Given the description of an element on the screen output the (x, y) to click on. 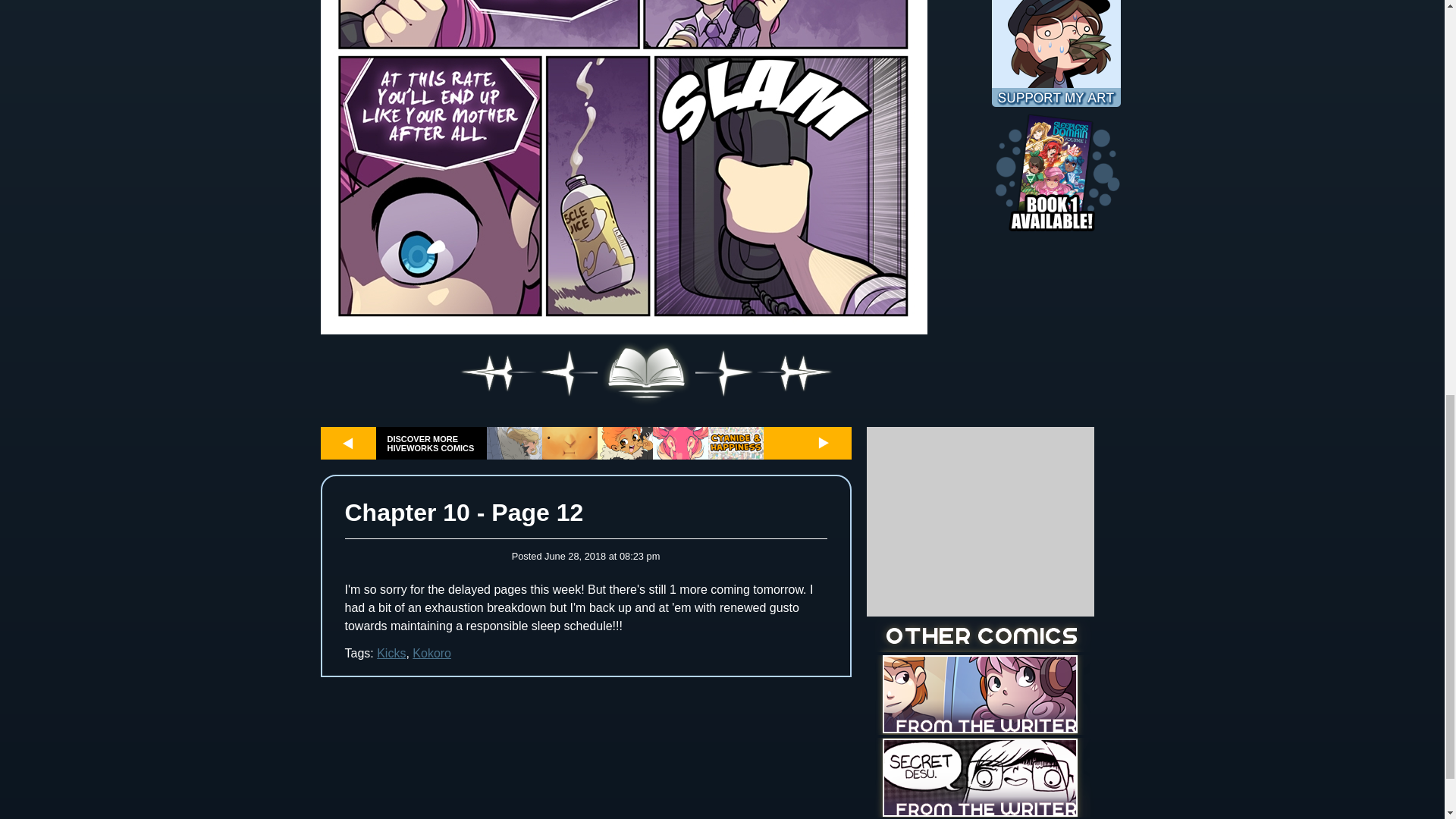
DISCOVER MORE HIVEWORKS COMICS (430, 443)
